Given the description of an element on the screen output the (x, y) to click on. 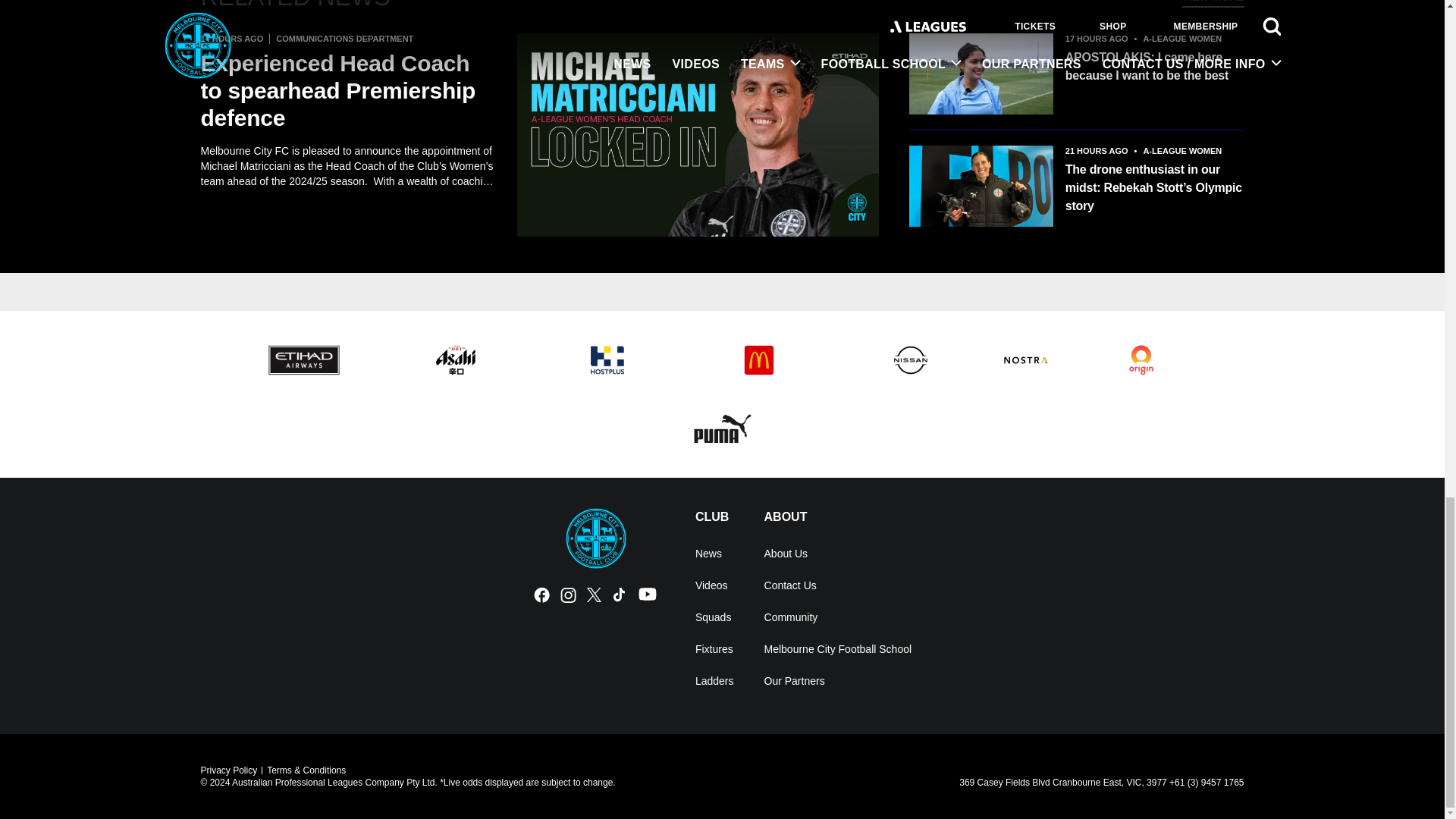
Nissan (909, 360)
Nostra (1025, 360)
Asahi Super Dry (454, 360)
Etihad Airways (303, 360)
Origin (1140, 360)
PUMA (722, 428)
Hostplus (606, 360)
